Given the description of an element on the screen output the (x, y) to click on. 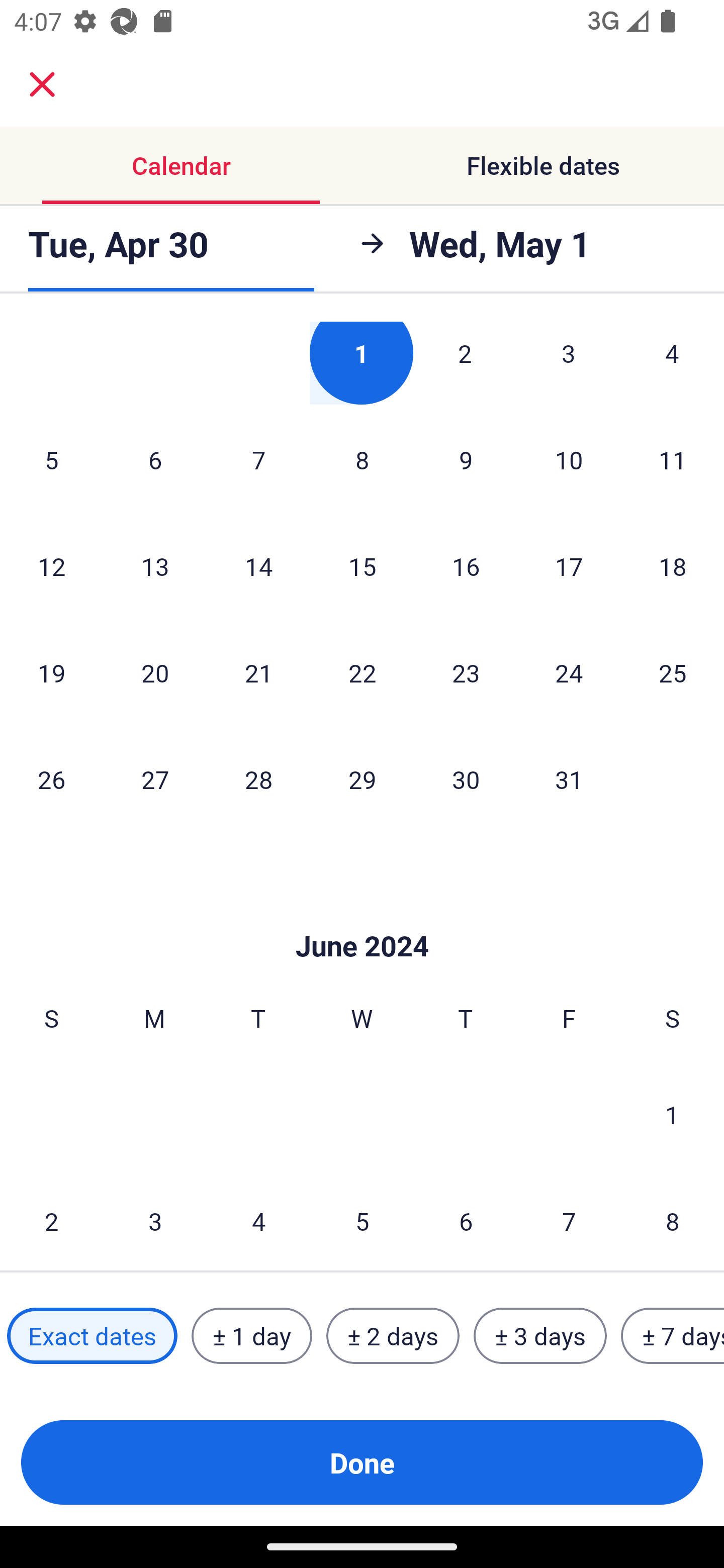
close. (42, 84)
Flexible dates (542, 164)
2 Thursday, May 2, 2024 (464, 362)
3 Friday, May 3, 2024 (568, 362)
4 Saturday, May 4, 2024 (672, 362)
5 Sunday, May 5, 2024 (51, 459)
6 Monday, May 6, 2024 (155, 459)
7 Tuesday, May 7, 2024 (258, 459)
8 Wednesday, May 8, 2024 (362, 459)
9 Thursday, May 9, 2024 (465, 459)
10 Friday, May 10, 2024 (569, 459)
11 Saturday, May 11, 2024 (672, 459)
12 Sunday, May 12, 2024 (51, 565)
13 Monday, May 13, 2024 (155, 565)
14 Tuesday, May 14, 2024 (258, 565)
15 Wednesday, May 15, 2024 (362, 565)
16 Thursday, May 16, 2024 (465, 565)
17 Friday, May 17, 2024 (569, 565)
18 Saturday, May 18, 2024 (672, 565)
19 Sunday, May 19, 2024 (51, 672)
20 Monday, May 20, 2024 (155, 672)
21 Tuesday, May 21, 2024 (258, 672)
22 Wednesday, May 22, 2024 (362, 672)
23 Thursday, May 23, 2024 (465, 672)
24 Friday, May 24, 2024 (569, 672)
25 Saturday, May 25, 2024 (672, 672)
26 Sunday, May 26, 2024 (51, 779)
27 Monday, May 27, 2024 (155, 779)
28 Tuesday, May 28, 2024 (258, 779)
29 Wednesday, May 29, 2024 (362, 779)
30 Thursday, May 30, 2024 (465, 779)
31 Friday, May 31, 2024 (569, 779)
Skip to Done (362, 915)
1 Saturday, June 1, 2024 (672, 1114)
2 Sunday, June 2, 2024 (51, 1219)
3 Monday, June 3, 2024 (155, 1219)
4 Tuesday, June 4, 2024 (258, 1219)
5 Wednesday, June 5, 2024 (362, 1219)
6 Thursday, June 6, 2024 (465, 1219)
7 Friday, June 7, 2024 (569, 1219)
8 Saturday, June 8, 2024 (672, 1219)
Exact dates (92, 1335)
± 1 day (251, 1335)
± 2 days (392, 1335)
± 3 days (539, 1335)
± 7 days (672, 1335)
Done (361, 1462)
